Given the description of an element on the screen output the (x, y) to click on. 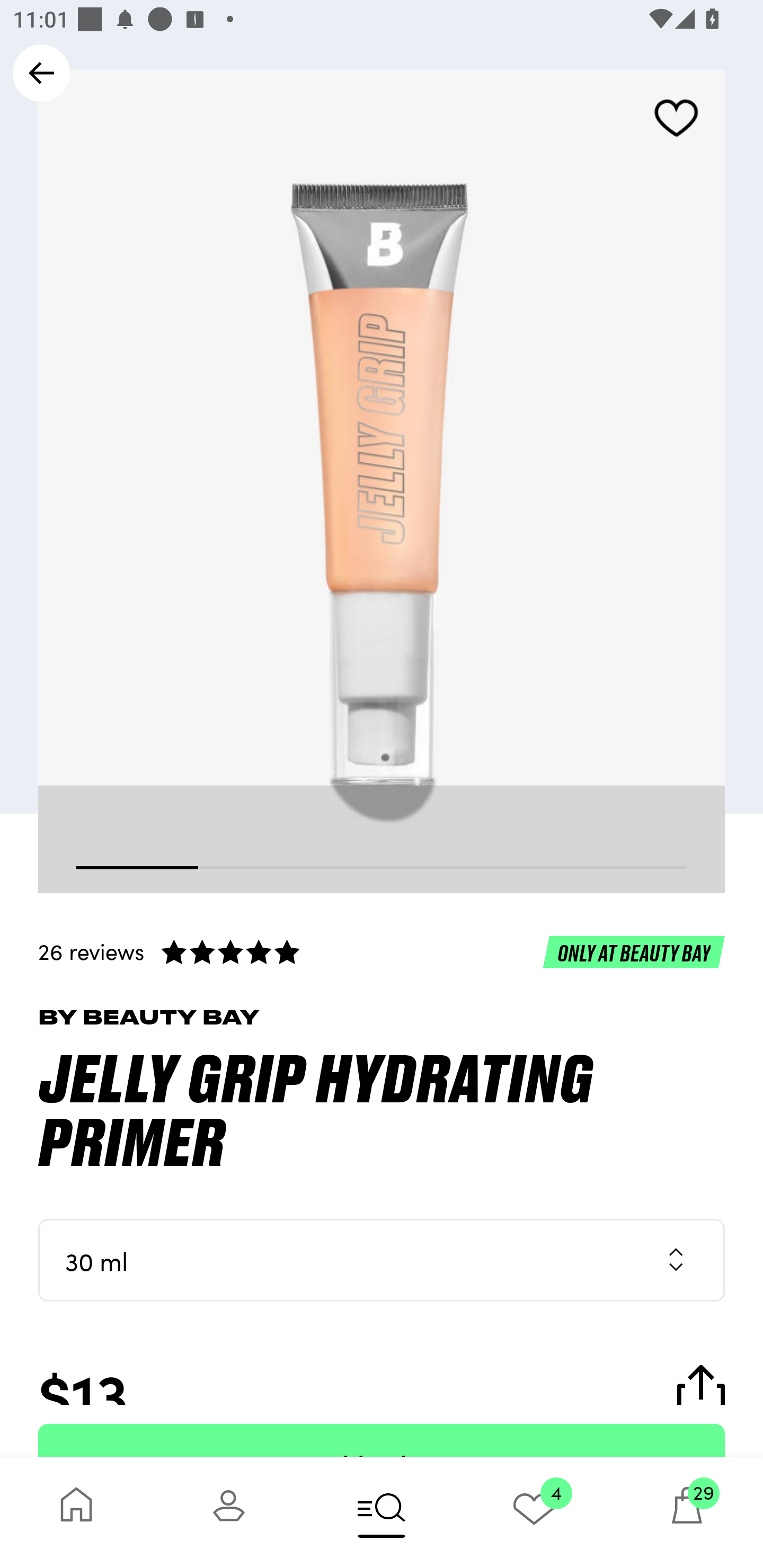
26 reviews (381, 950)
30 ml  (381, 1259)
4 (533, 1512)
29 (686, 1512)
